Given the description of an element on the screen output the (x, y) to click on. 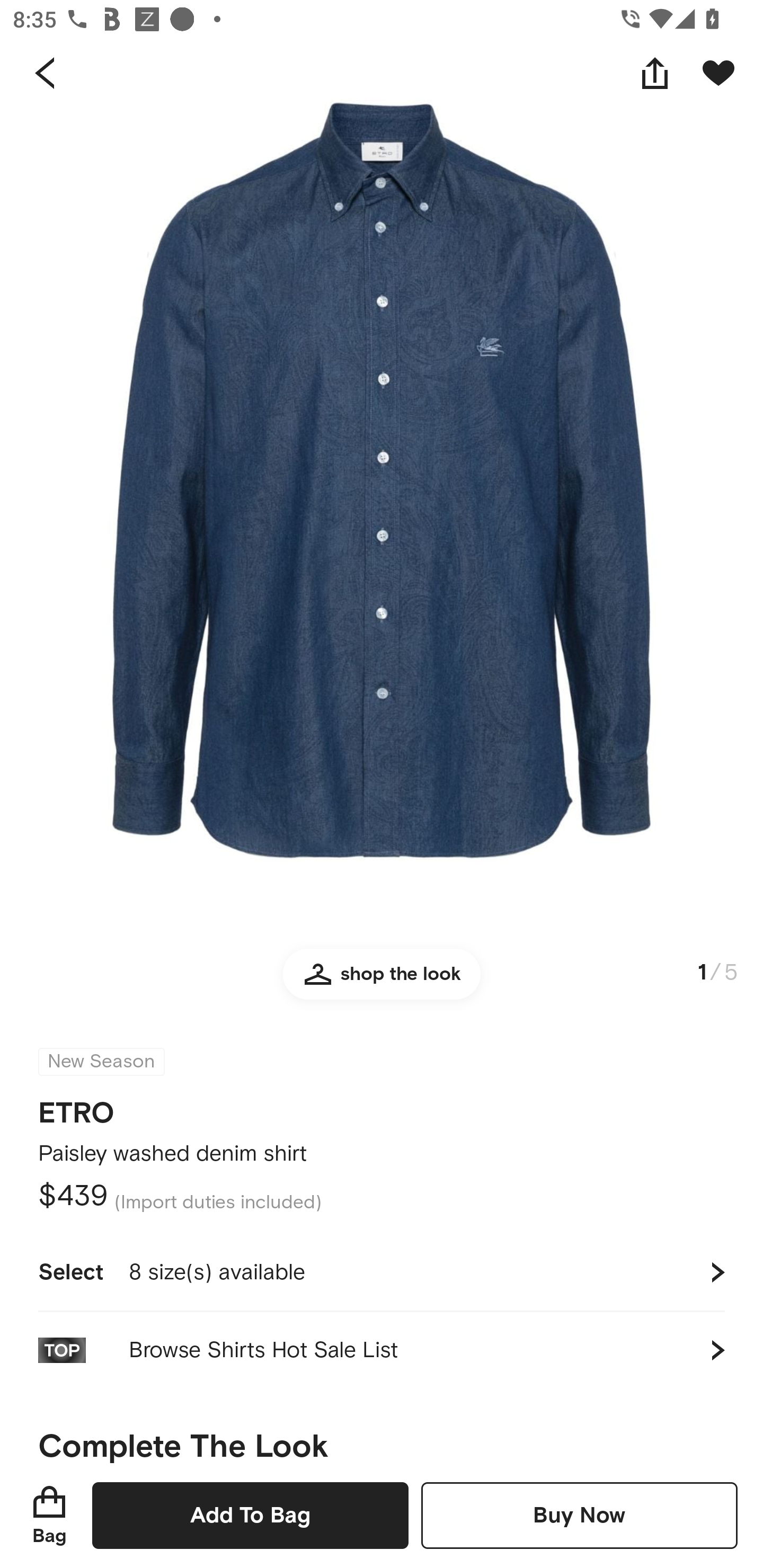
shop the look (381, 982)
ETRO (76, 1107)
Select 8 size(s) available (381, 1272)
Browse Shirts Hot Sale List (381, 1349)
Bag (49, 1515)
Add To Bag (250, 1515)
Buy Now (579, 1515)
